Given the description of an element on the screen output the (x, y) to click on. 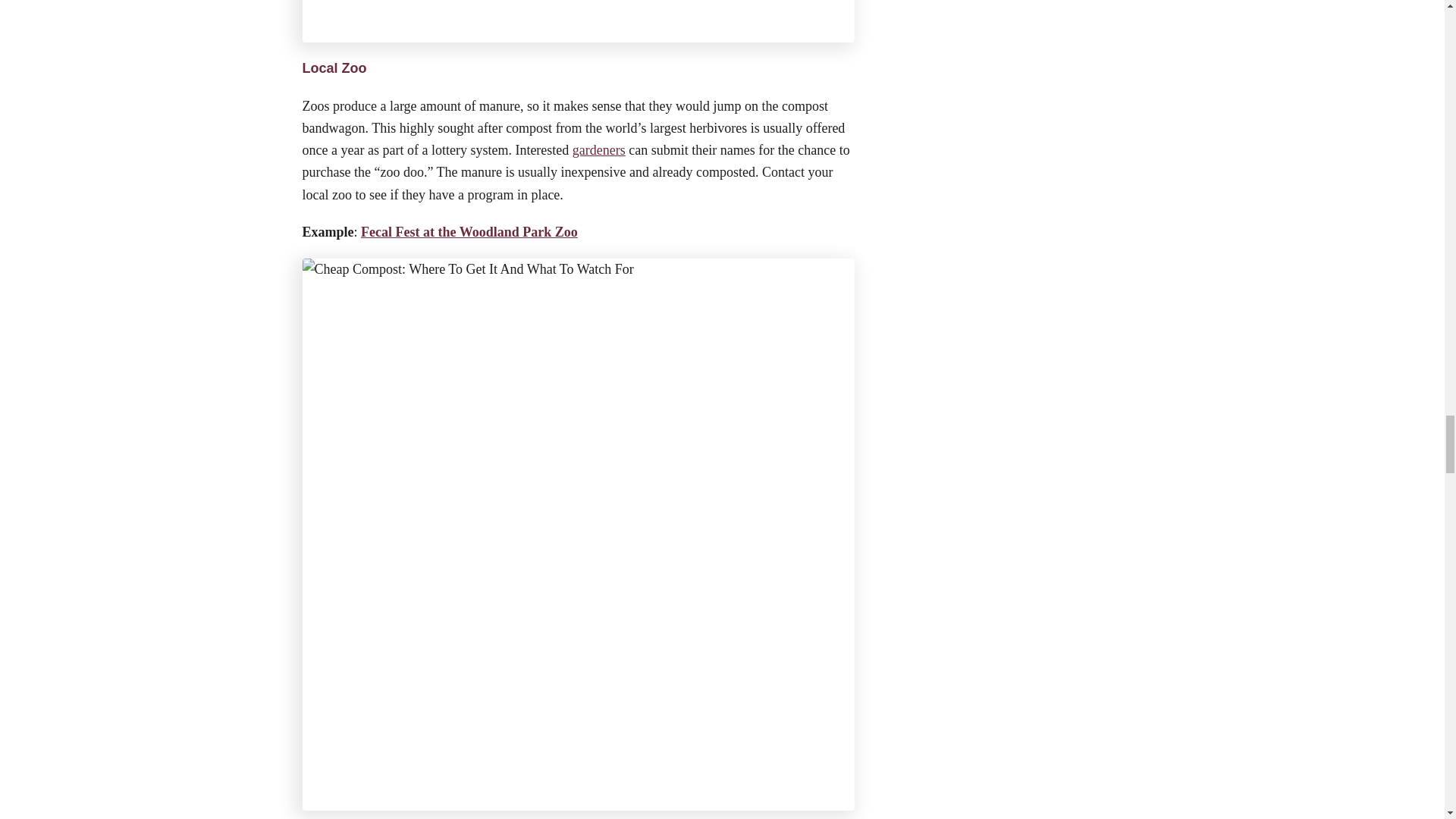
Fecal Fest at the Woodland Park Zoo (469, 231)
gardeners (599, 150)
gardeners (599, 150)
